Given the description of an element on the screen output the (x, y) to click on. 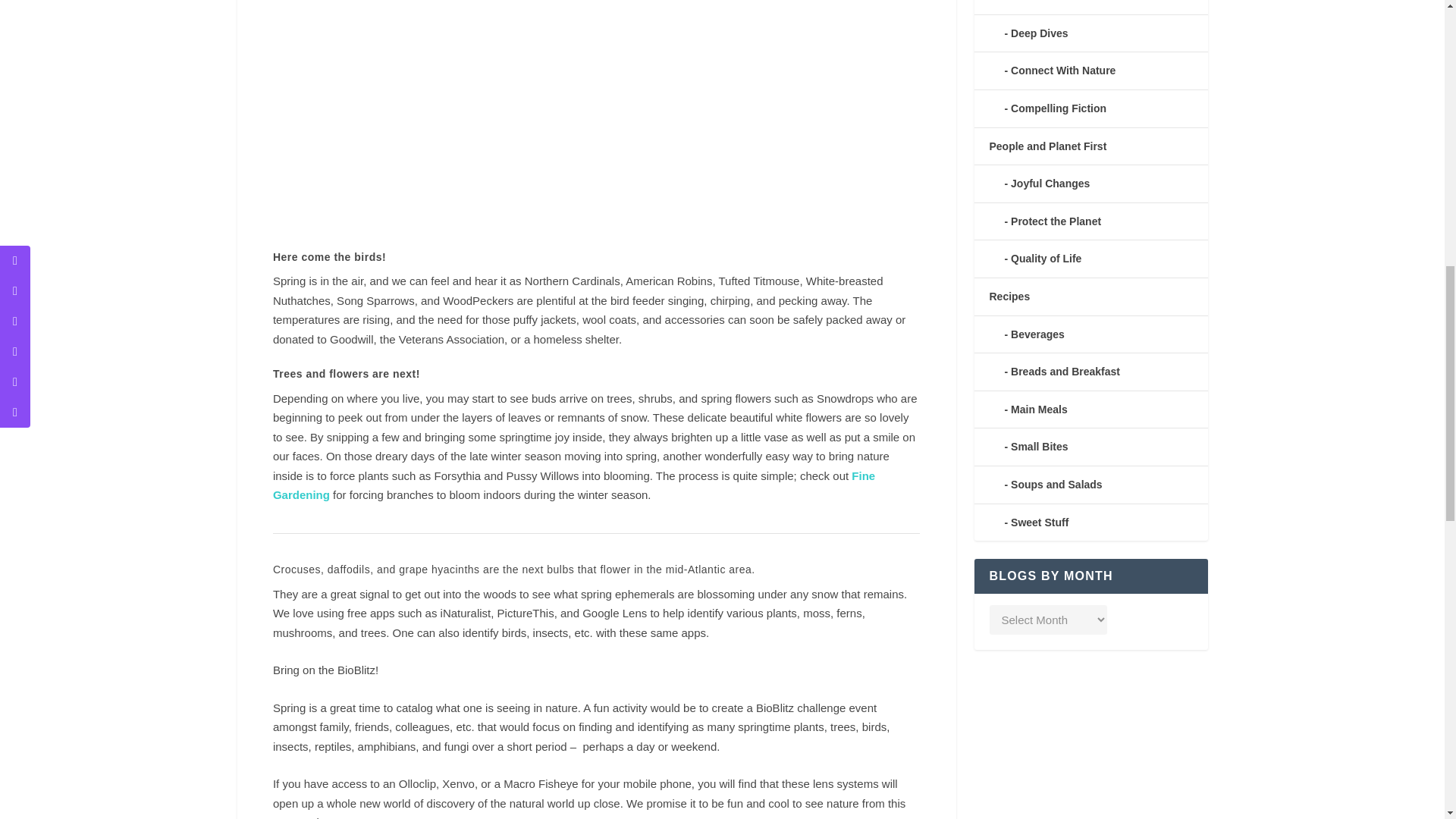
Fine Gardening (574, 485)
